Given the description of an element on the screen output the (x, y) to click on. 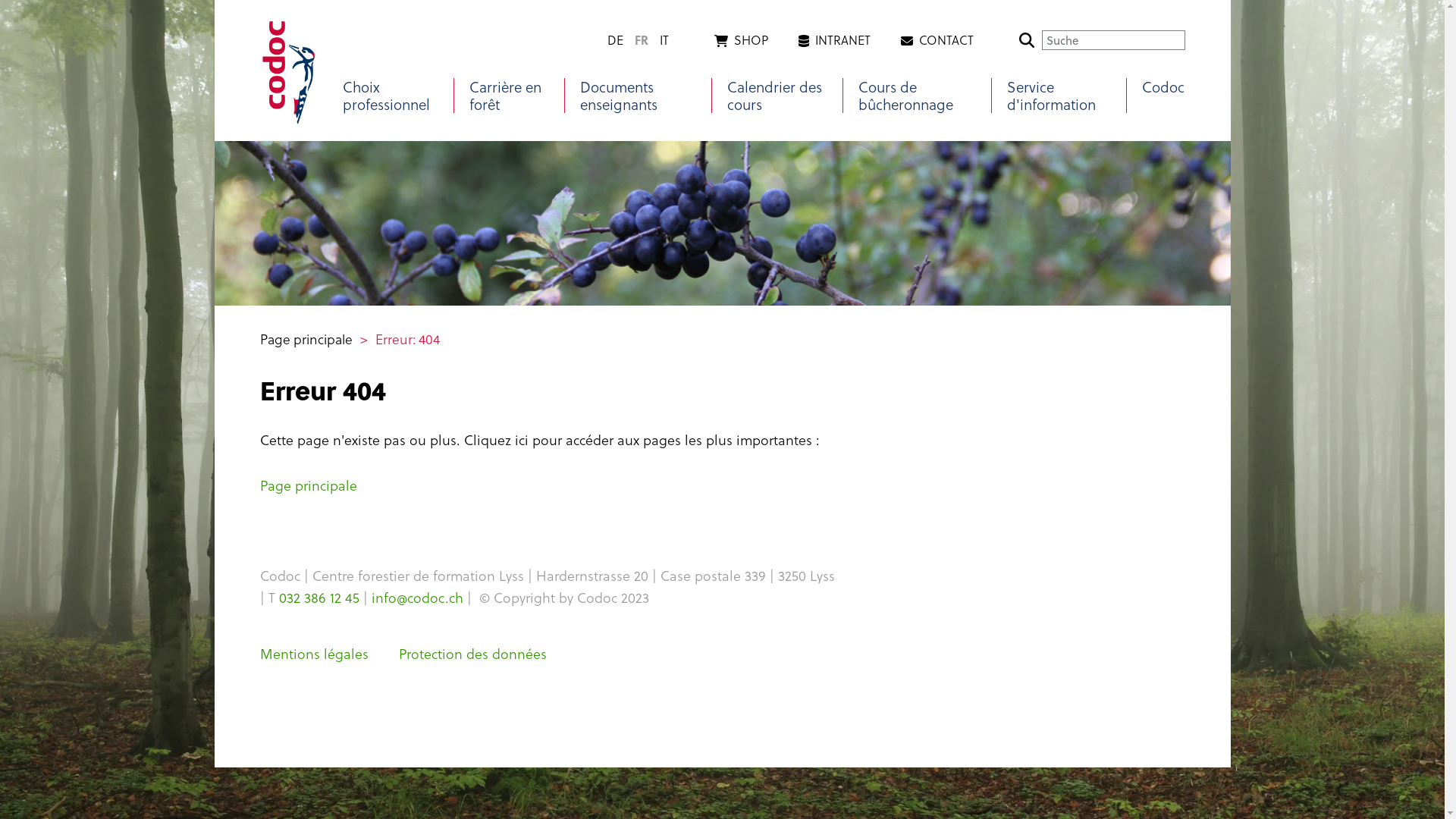
Page principale Element type: text (305, 338)
Calendrier des cours Element type: text (777, 95)
CONTACT Element type: text (936, 40)
032 386 12 45 Element type: text (319, 596)
IT Element type: text (663, 39)
SHOP Element type: text (741, 40)
INTRANET Element type: text (833, 40)
Page principale Element type: text (307, 484)
Documents enseignants Element type: text (637, 95)
Choix professionnel Element type: text (390, 95)
info@codoc.ch Element type: text (417, 596)
Service d'information Element type: text (1058, 95)
DE Element type: text (614, 39)
Codoc Element type: text (1162, 86)
